Given the description of an element on the screen output the (x, y) to click on. 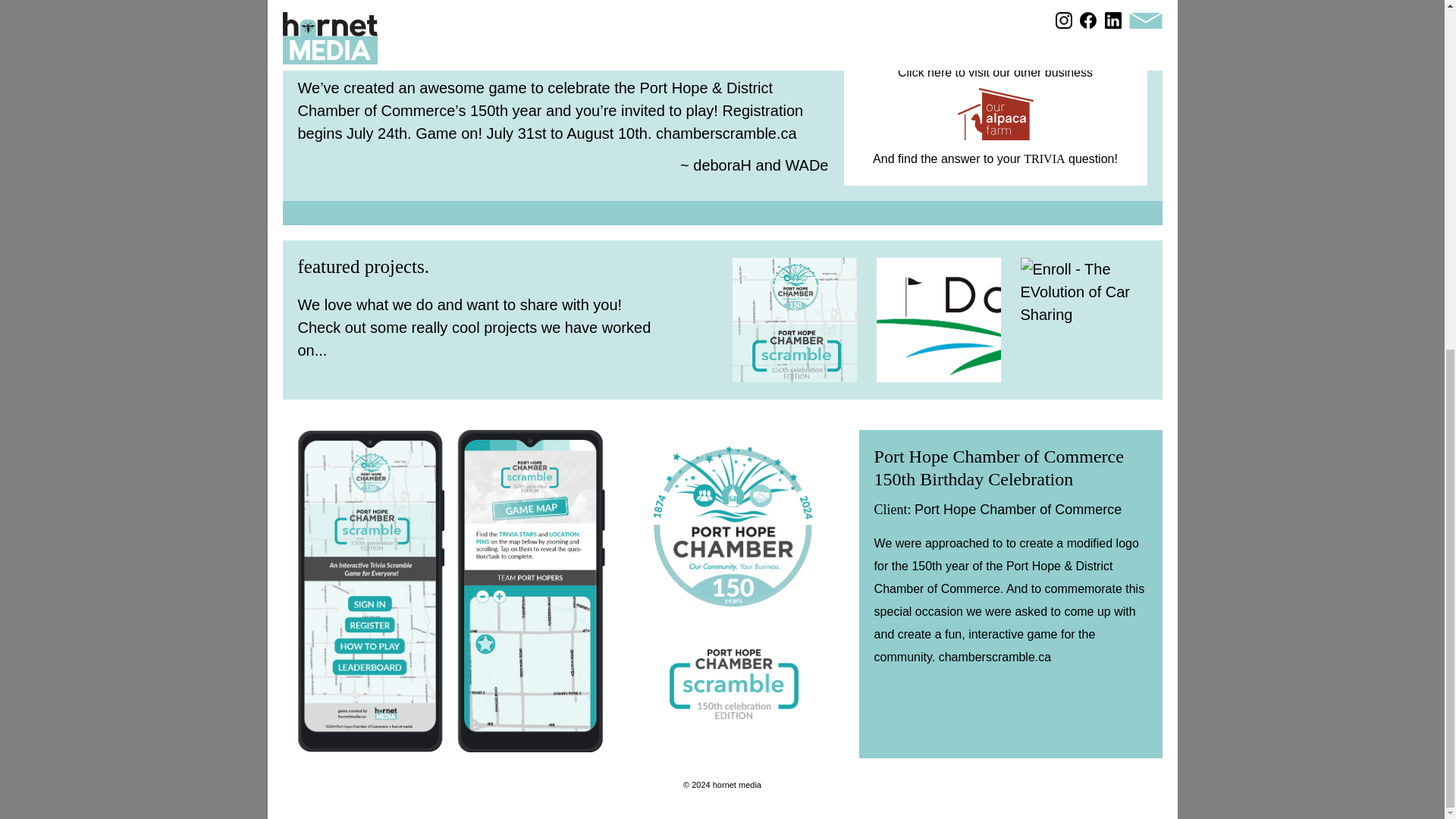
here (939, 73)
chamberscramble.ca (995, 658)
chamberscramble.ca (726, 134)
